Given the description of an element on the screen output the (x, y) to click on. 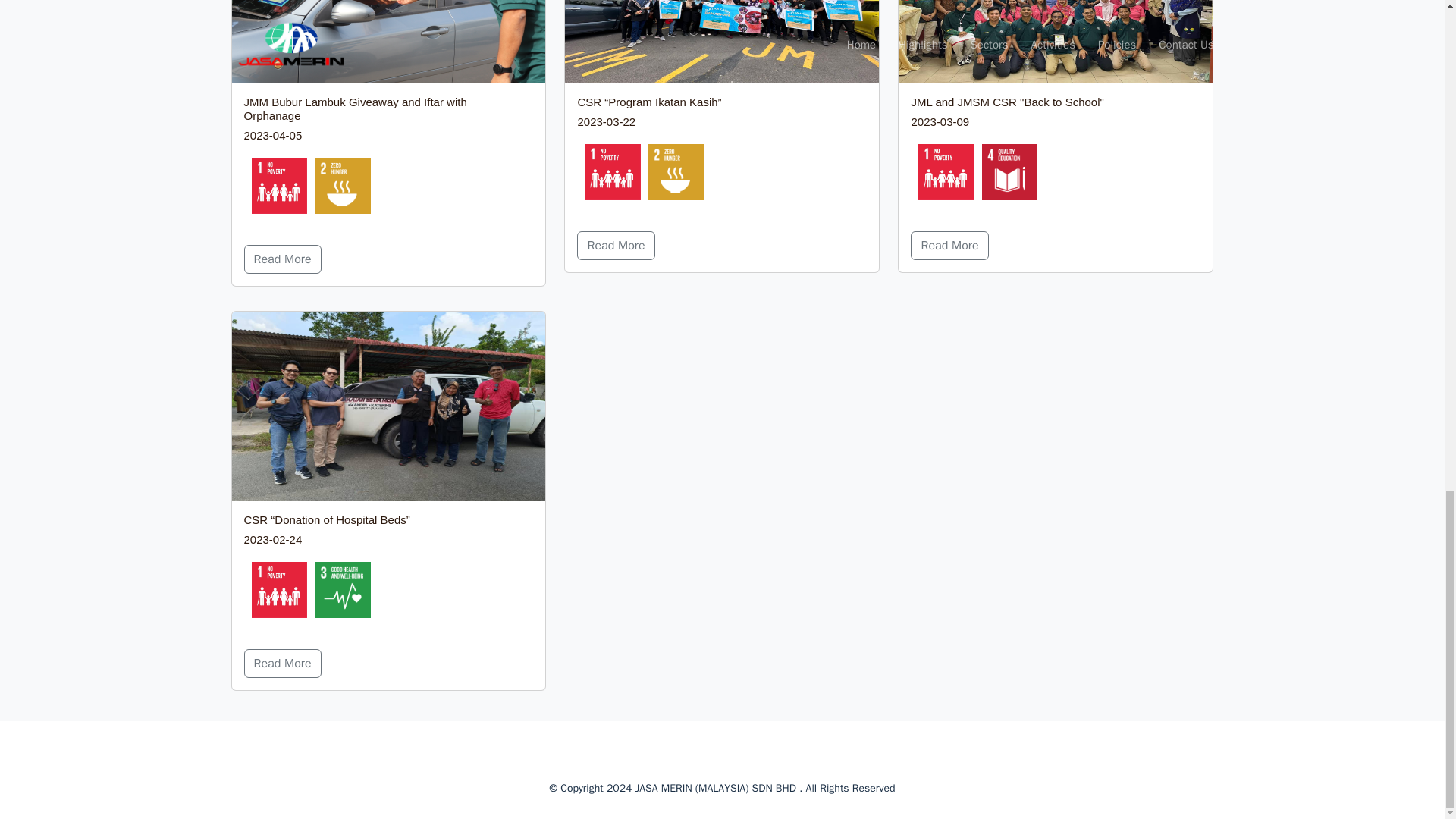
Read More (282, 663)
Read More (614, 245)
Read More (282, 258)
Read More (949, 245)
